Given the description of an element on the screen output the (x, y) to click on. 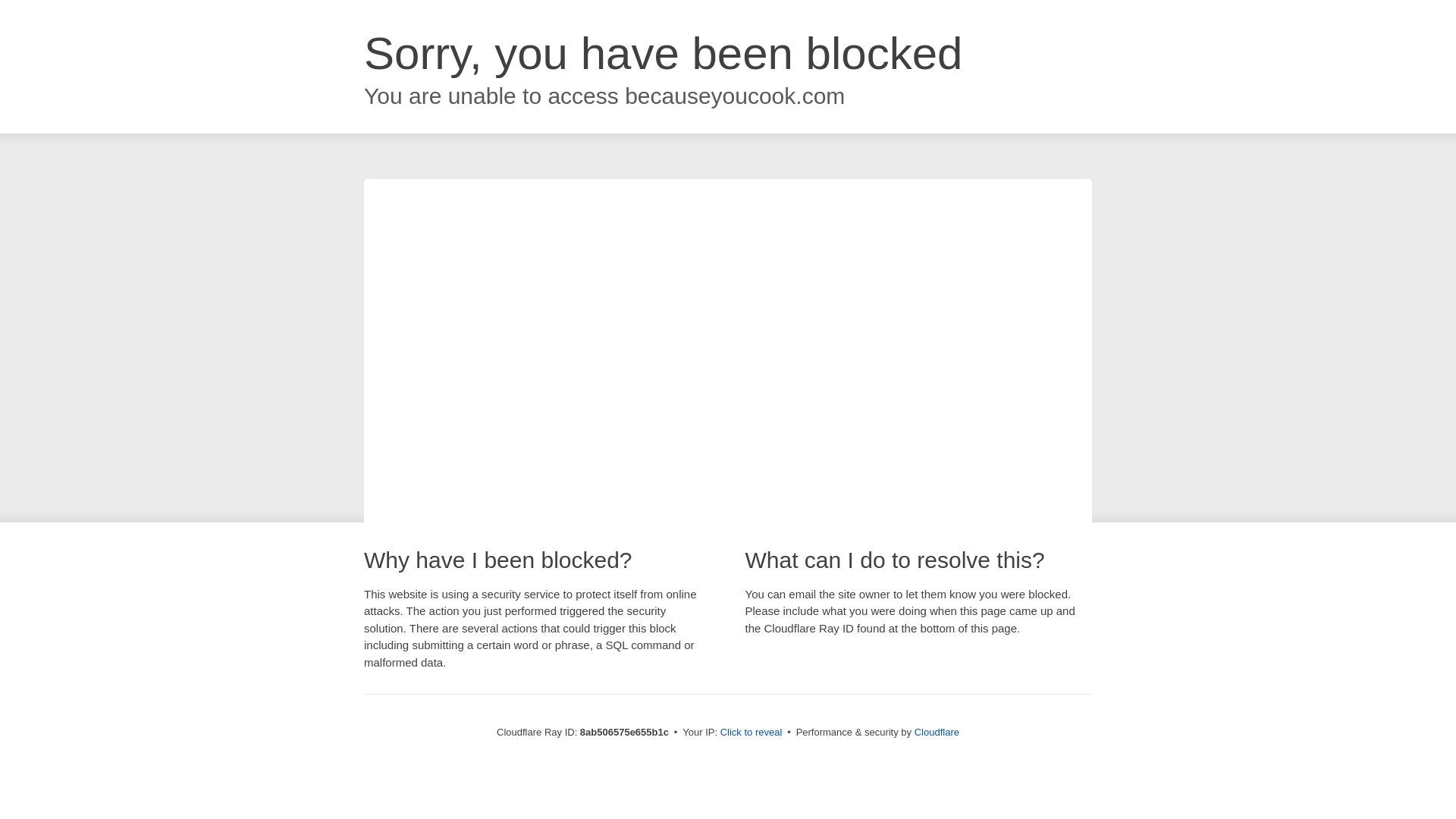
Click to reveal (751, 732)
Cloudflare (936, 731)
